Given the description of an element on the screen output the (x, y) to click on. 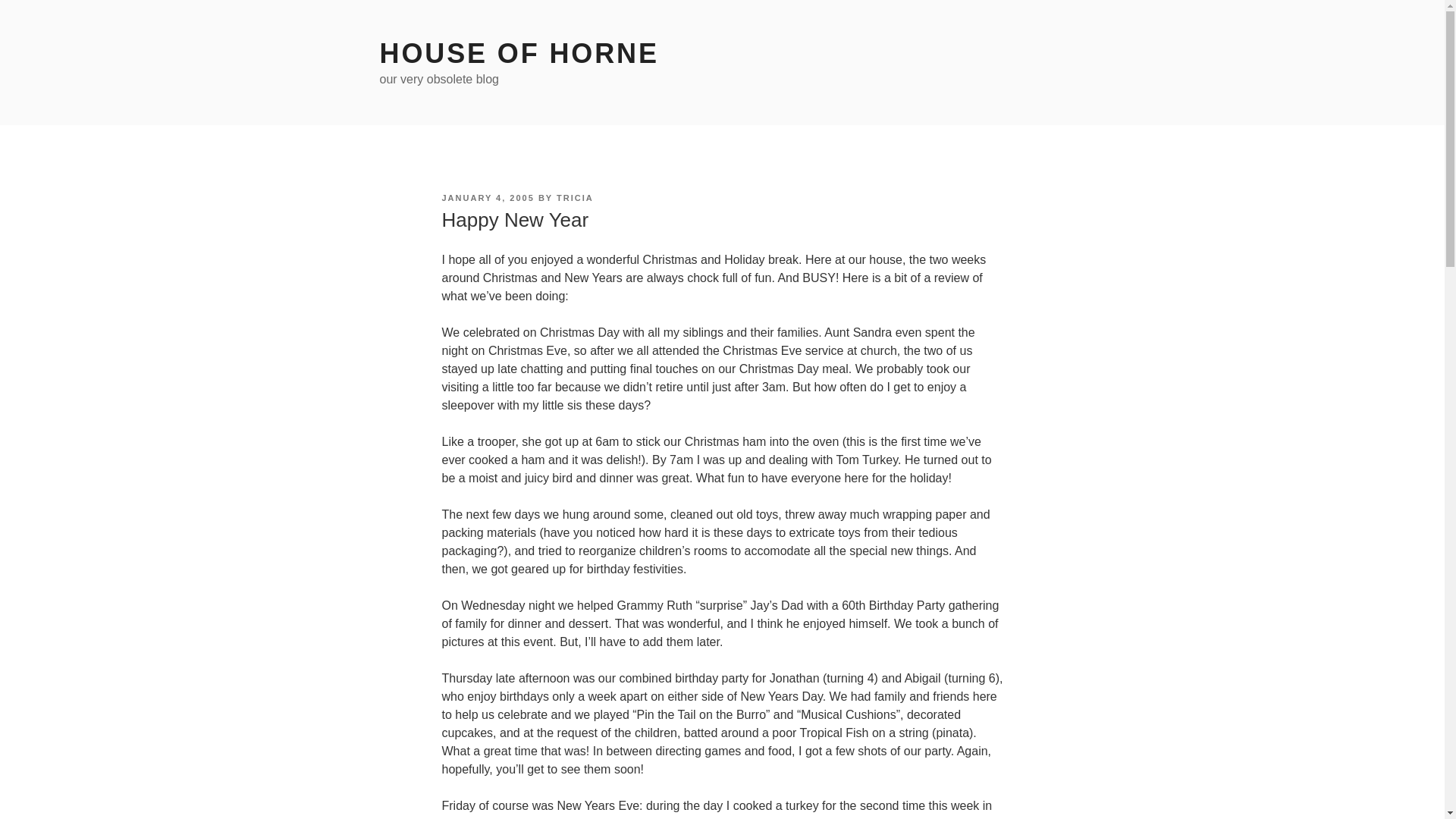
JANUARY 4, 2005 (487, 197)
HOUSE OF HORNE (518, 52)
TRICIA (575, 197)
